Given the description of an element on the screen output the (x, y) to click on. 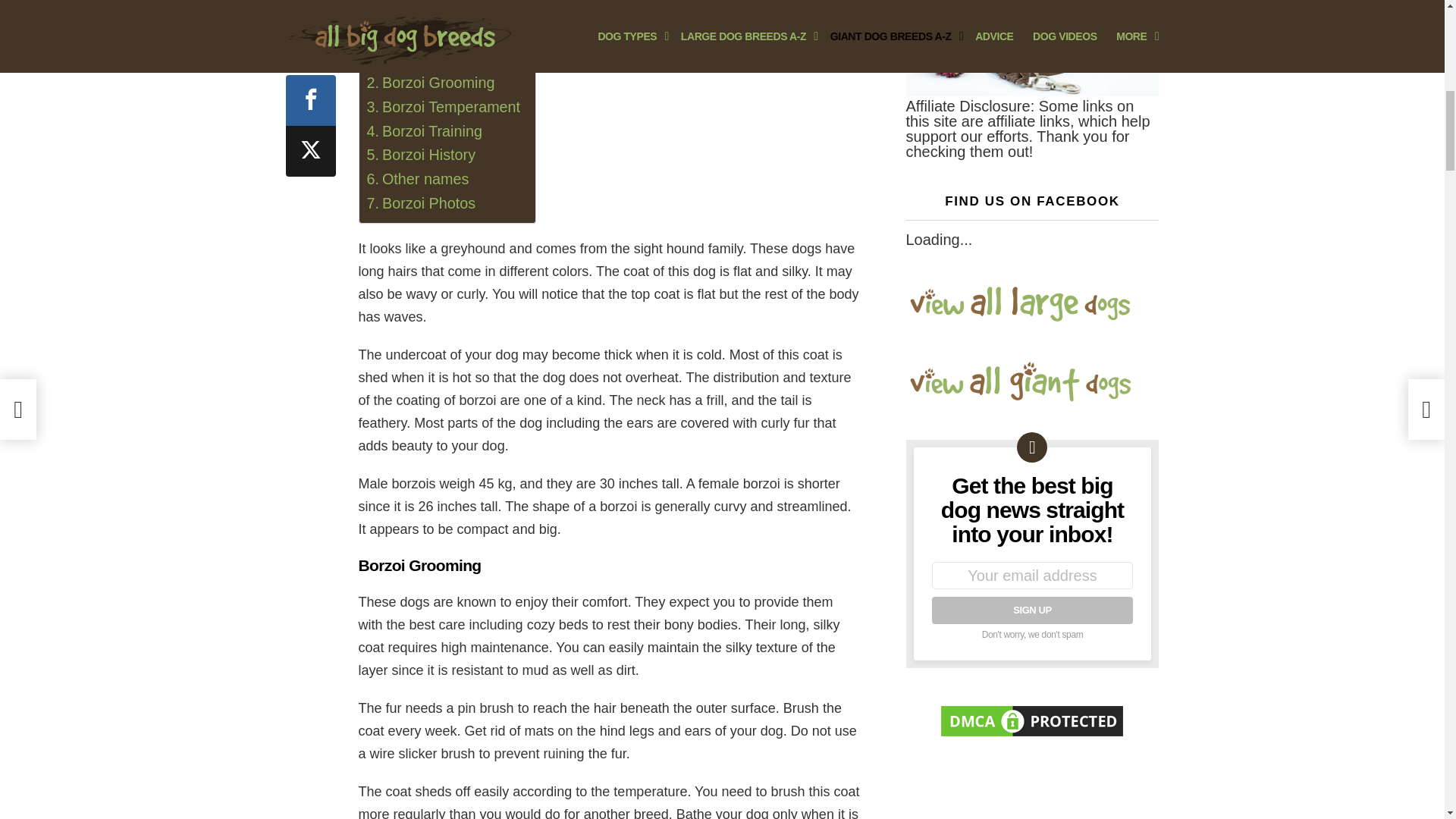
Sign up (1031, 610)
